Given the description of an element on the screen output the (x, y) to click on. 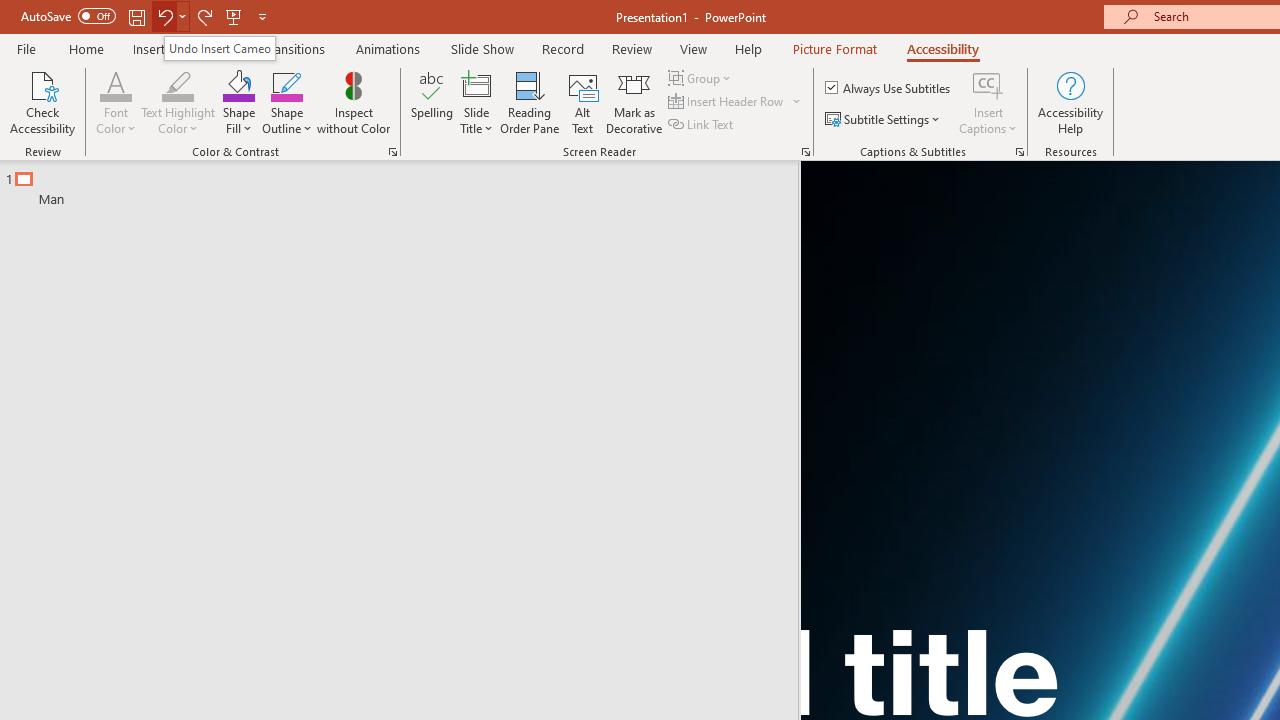
Screen Reader (805, 151)
Insert Header Row (727, 101)
